Given the description of an element on the screen output the (x, y) to click on. 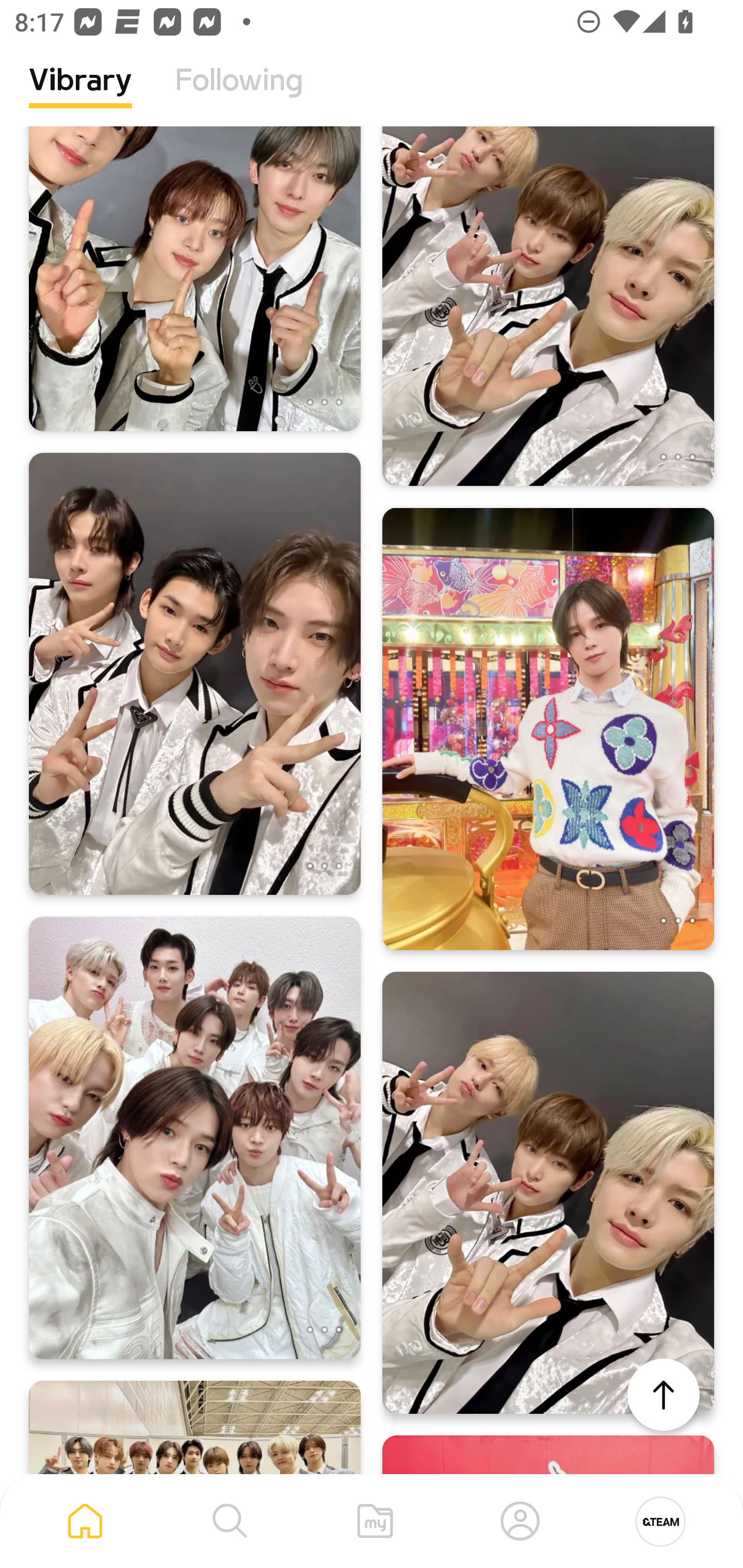
Vibrary (80, 95)
Following (239, 95)
